Given the description of an element on the screen output the (x, y) to click on. 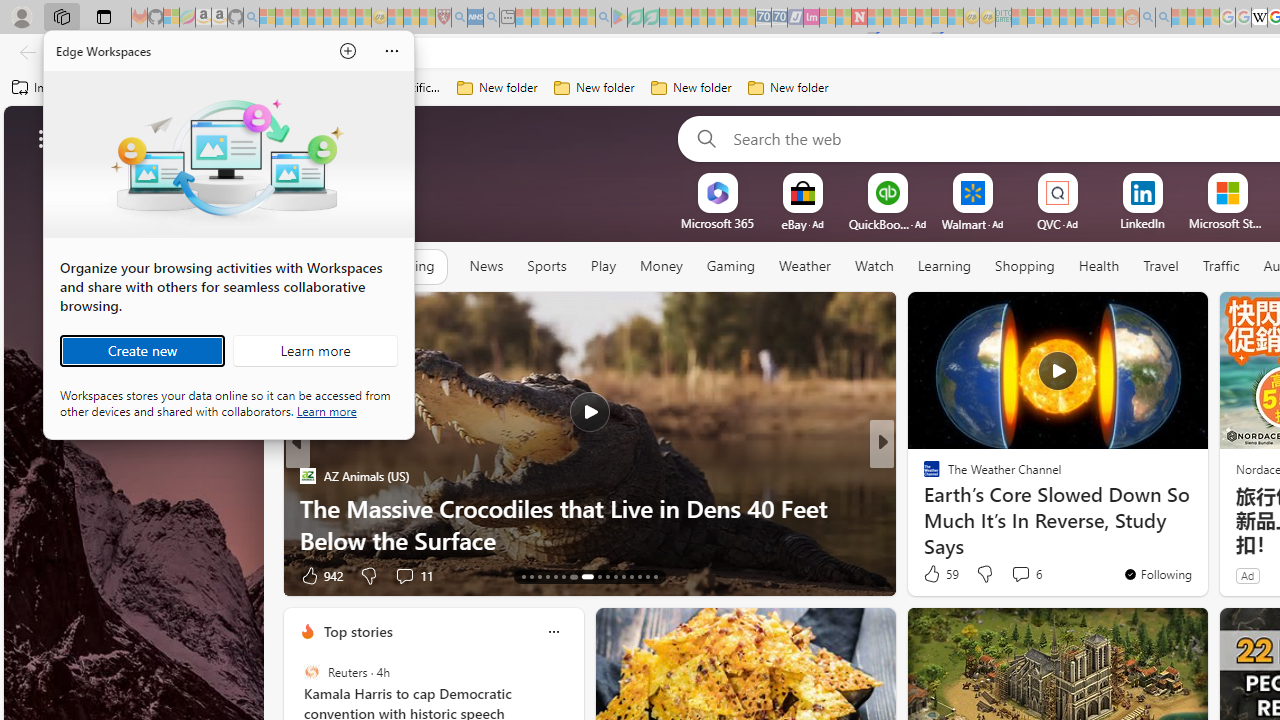
XDA Developers (923, 475)
Learn more about Workspaces privacy (326, 410)
Health (1099, 265)
View comments 8 Comment (1014, 575)
View comments 9 Comment (404, 575)
MSNBC - MSN - Sleeping (1019, 17)
Reuters (311, 672)
